Given the description of an element on the screen output the (x, y) to click on. 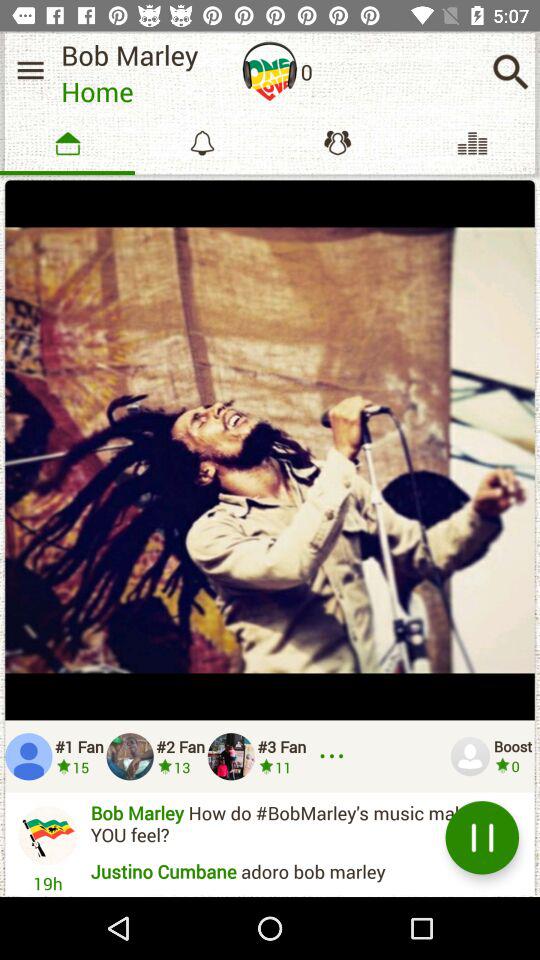
listen song option (269, 71)
